Given the description of an element on the screen output the (x, y) to click on. 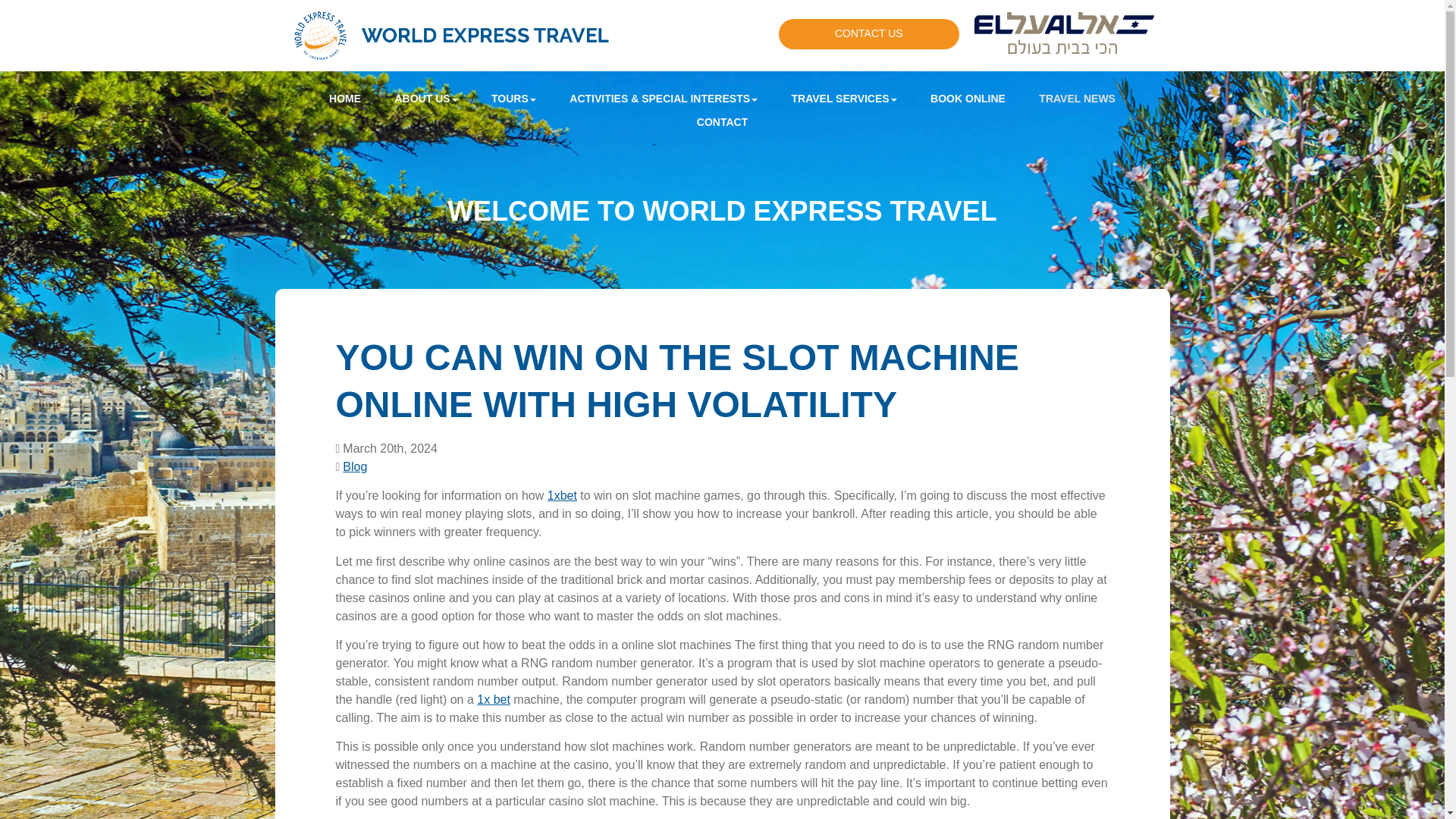
CONTACT US (868, 33)
BOOK ONLINE (967, 98)
TRAVEL NEWS (1077, 98)
HOME (344, 98)
TOURS (513, 98)
TRAVEL SERVICES (844, 98)
CONTACT (721, 122)
Date Published (385, 448)
ABOUT US (424, 98)
